Given the description of an element on the screen output the (x, y) to click on. 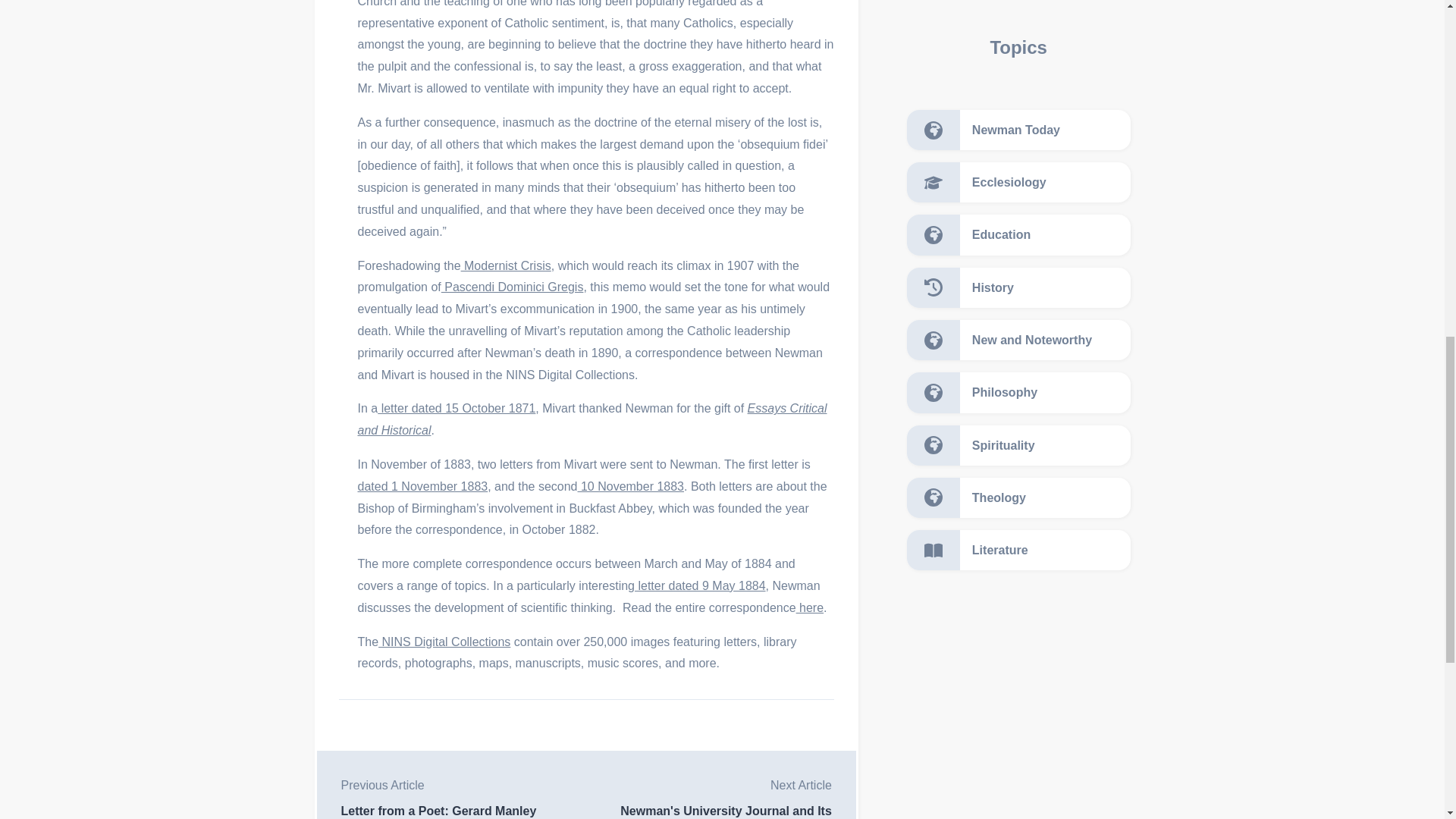
Philosophy (1019, 392)
letter dated 15 October 1871 (456, 408)
dated 1 November 1883 (422, 486)
Modernist Crisis (506, 265)
Pascendi Dominici Gregis (512, 286)
New and Noteworthy (1019, 340)
here (810, 607)
Newman's University Journal and Its Significance (708, 811)
10 November 1883 (630, 486)
Letter from a Poet: Gerard Manley Hopkins to Ignatius Ryder (463, 811)
Ecclesiology (1019, 182)
Essays Critical and Historical (592, 419)
History (1019, 287)
NINS Digital Collections (444, 641)
Education (1019, 234)
